Given the description of an element on the screen output the (x, y) to click on. 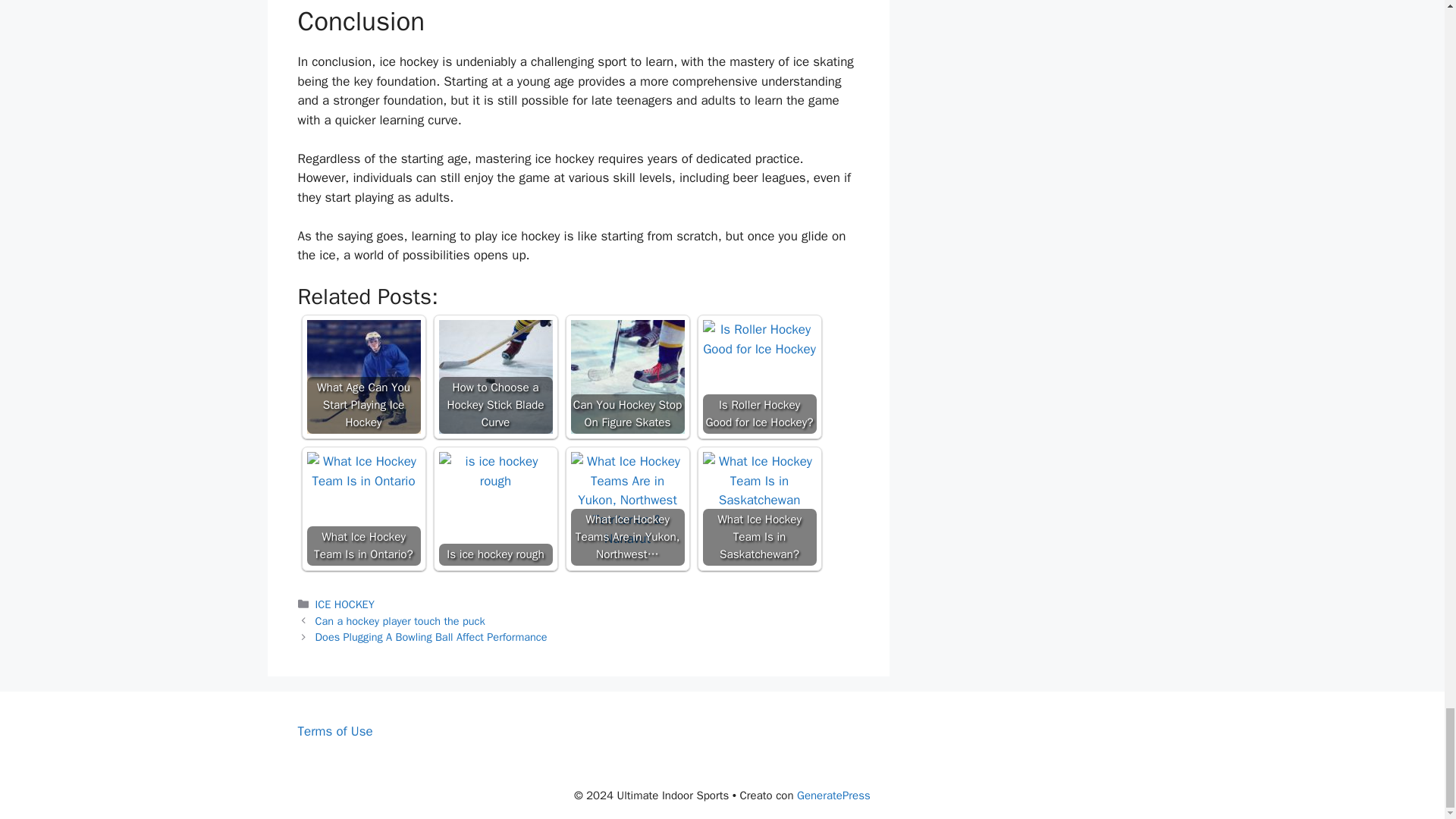
Can You Hockey Stop On Figure Skates (627, 377)
ICE HOCKEY (344, 603)
What Ice Hockey Team Is in Saskatchewan? (758, 481)
Can a hockey player touch the puck (399, 621)
How to Choose a Hockey Stick Blade Curve (494, 377)
Is Roller Hockey Good for Ice Hockey? (758, 339)
What Age Can You Start Playing Ice Hockey (362, 377)
What Ice Hockey Team Is in Ontario? (362, 508)
Is ice hockey rough (494, 508)
Is ice hockey rough (494, 471)
What Ice Hockey Team Is in Ontario? (362, 471)
Is Roller Hockey Good for Ice Hockey? (758, 377)
What Ice Hockey Team Is in Saskatchewan? (758, 508)
Can You Hockey Stop On Figure Skates (627, 377)
Does Plugging A Bowling Ball Affect Performance (431, 636)
